Given the description of an element on the screen output the (x, y) to click on. 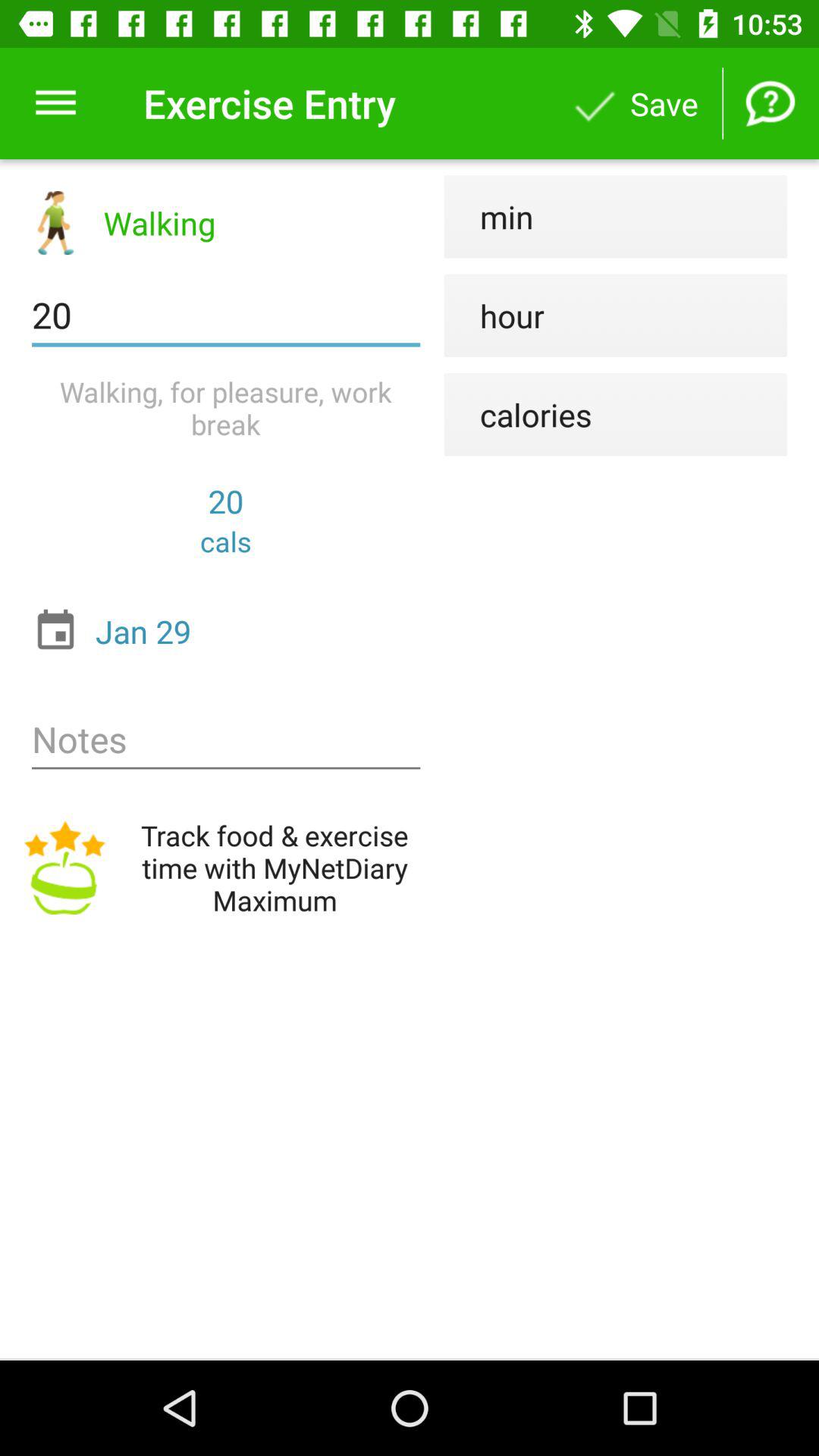
write notes (225, 739)
